Given the description of an element on the screen output the (x, y) to click on. 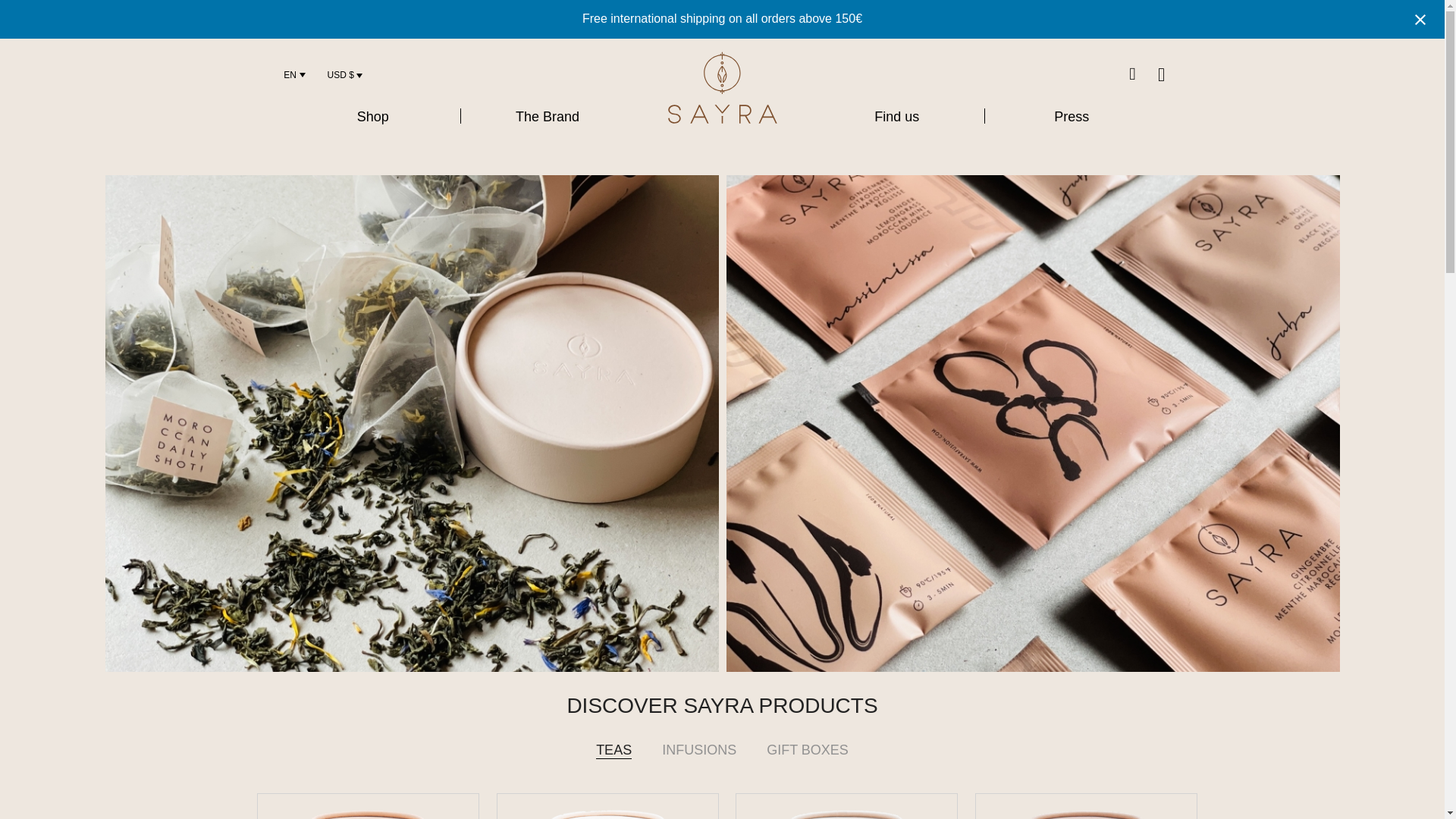
Shop (372, 116)
TEAS (613, 763)
GIFT BOXES (807, 762)
The Brand (547, 116)
TEAS (613, 763)
INFUSIONS (698, 762)
Find us (896, 116)
Press (1071, 116)
SVG Image (722, 87)
EN (289, 74)
